Given the description of an element on the screen output the (x, y) to click on. 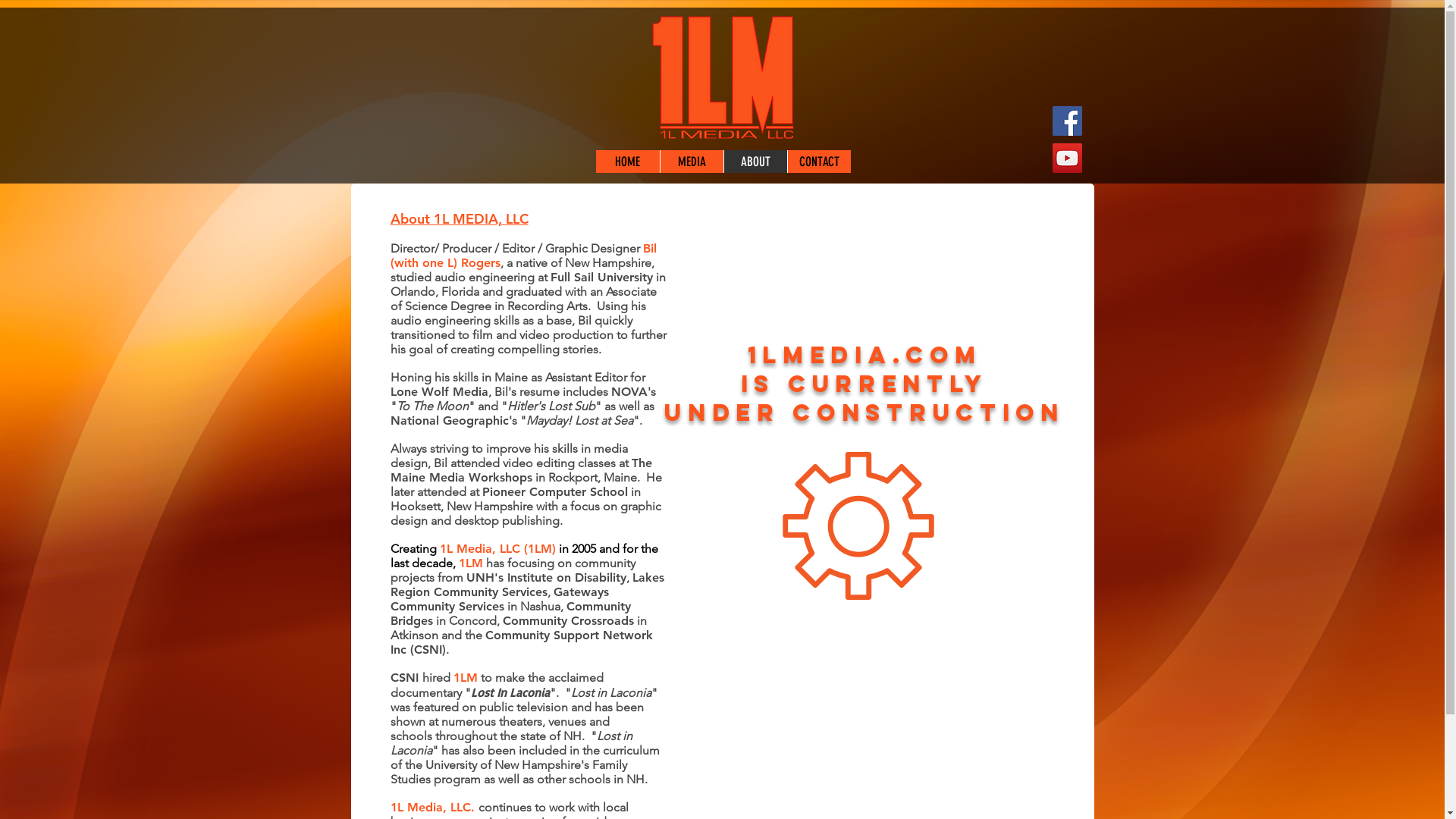
CONTACT Element type: text (818, 161)
MEDIA Element type: text (691, 161)
ABOUT Element type: text (755, 161)
HOME Element type: text (627, 161)
